Given the description of an element on the screen output the (x, y) to click on. 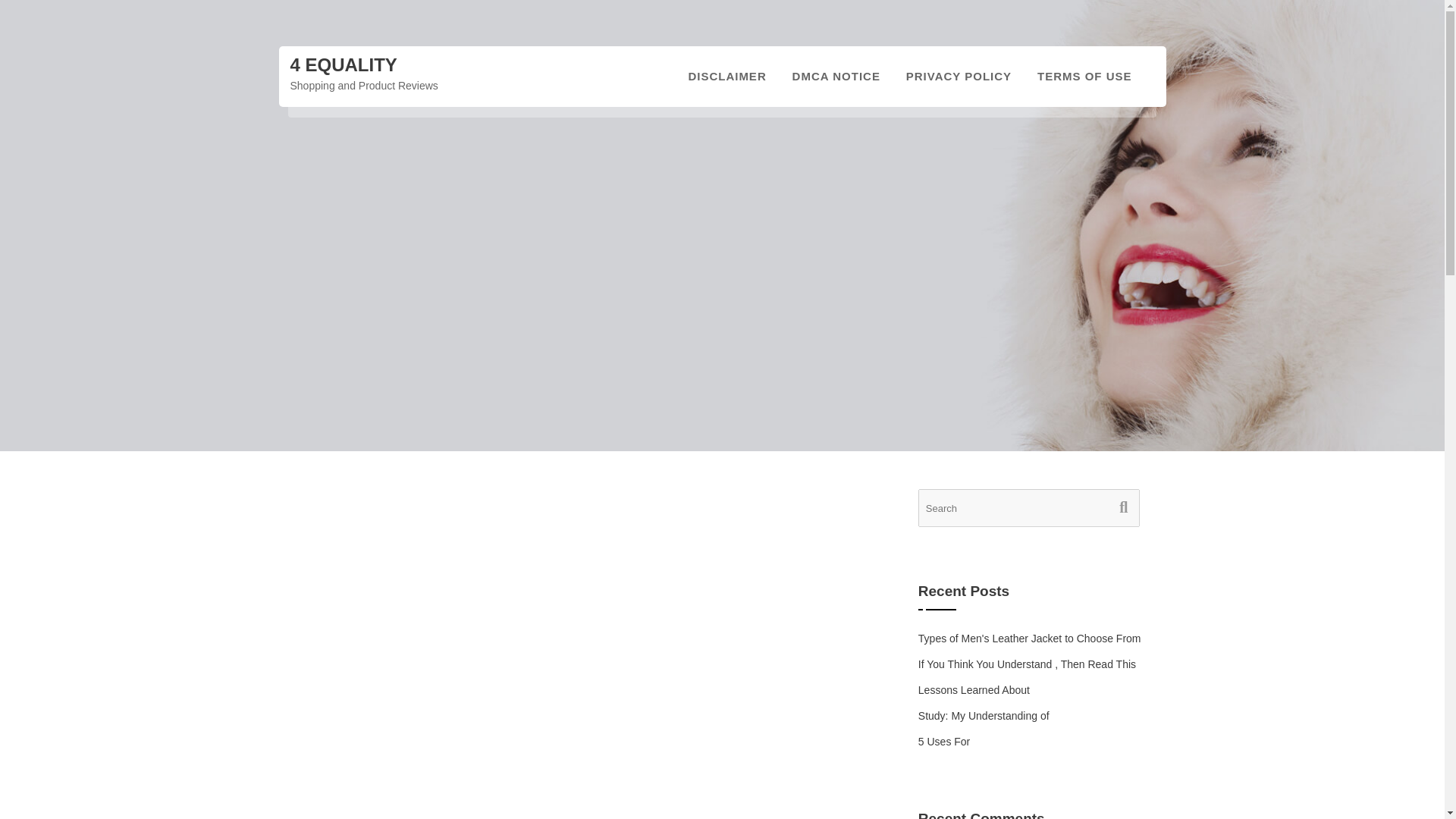
PRIVACY POLICY (959, 76)
Types of Men's Leather Jacket to Choose From (1029, 638)
Lessons Learned About (973, 689)
DMCA NOTICE (835, 76)
DISCLAIMER (727, 76)
5 Uses For (943, 741)
4 Equality (342, 64)
TERMS OF USE (1084, 76)
Study: My Understanding of (983, 715)
4 EQUALITY (342, 64)
